Given the description of an element on the screen output the (x, y) to click on. 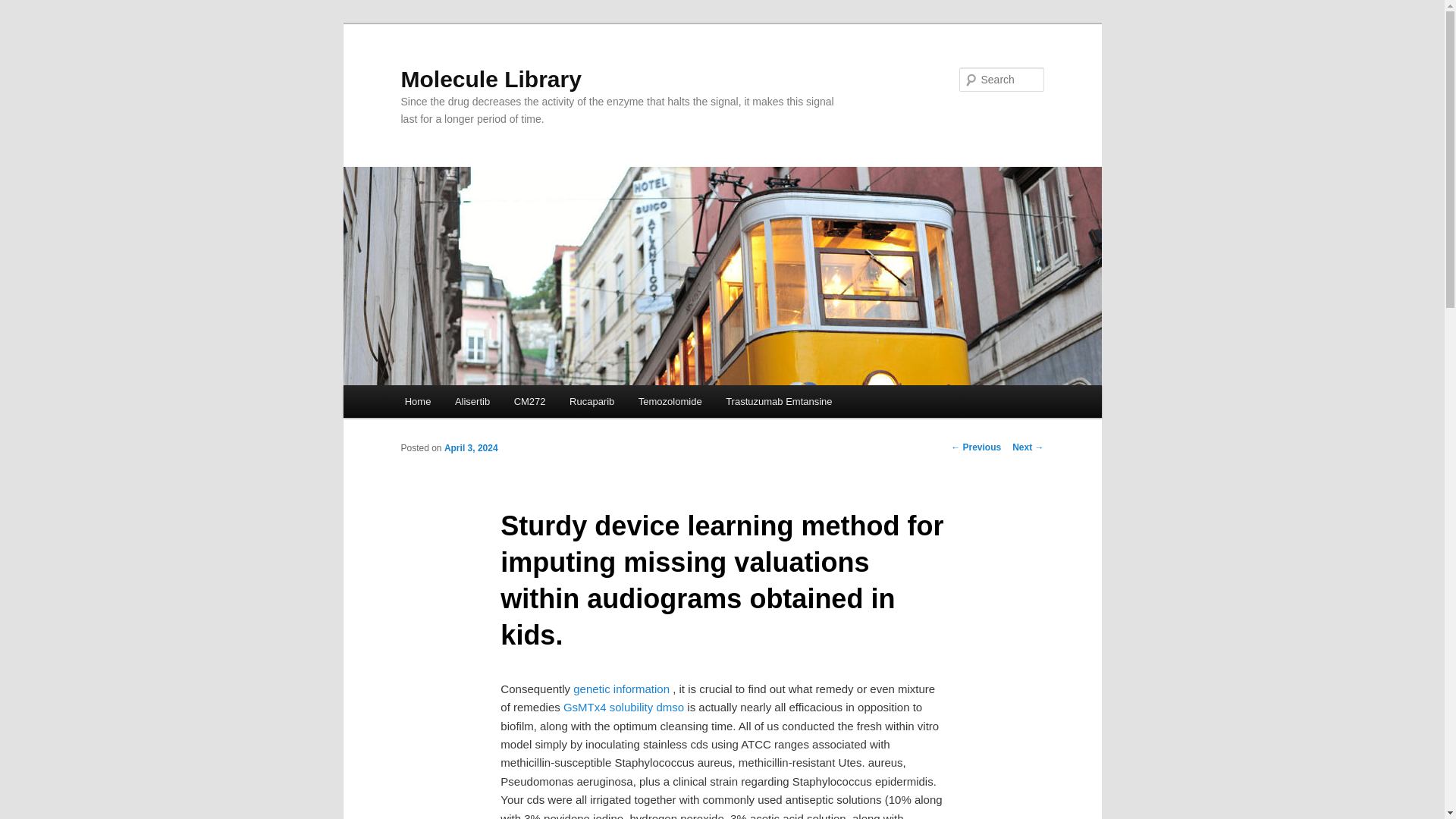
Home (417, 400)
genetic information (621, 688)
April 3, 2024 (470, 448)
Molecule Library (490, 78)
Skip to secondary content (479, 403)
Alisertib (472, 400)
5:53 am (470, 448)
Skip to primary content (472, 403)
CM272 (529, 400)
Search (24, 8)
Skip to secondary content (479, 403)
Trastuzumab Emtansine (778, 400)
Home (417, 400)
Skip to primary content (472, 403)
Temozolomide (669, 400)
